Given the description of an element on the screen output the (x, y) to click on. 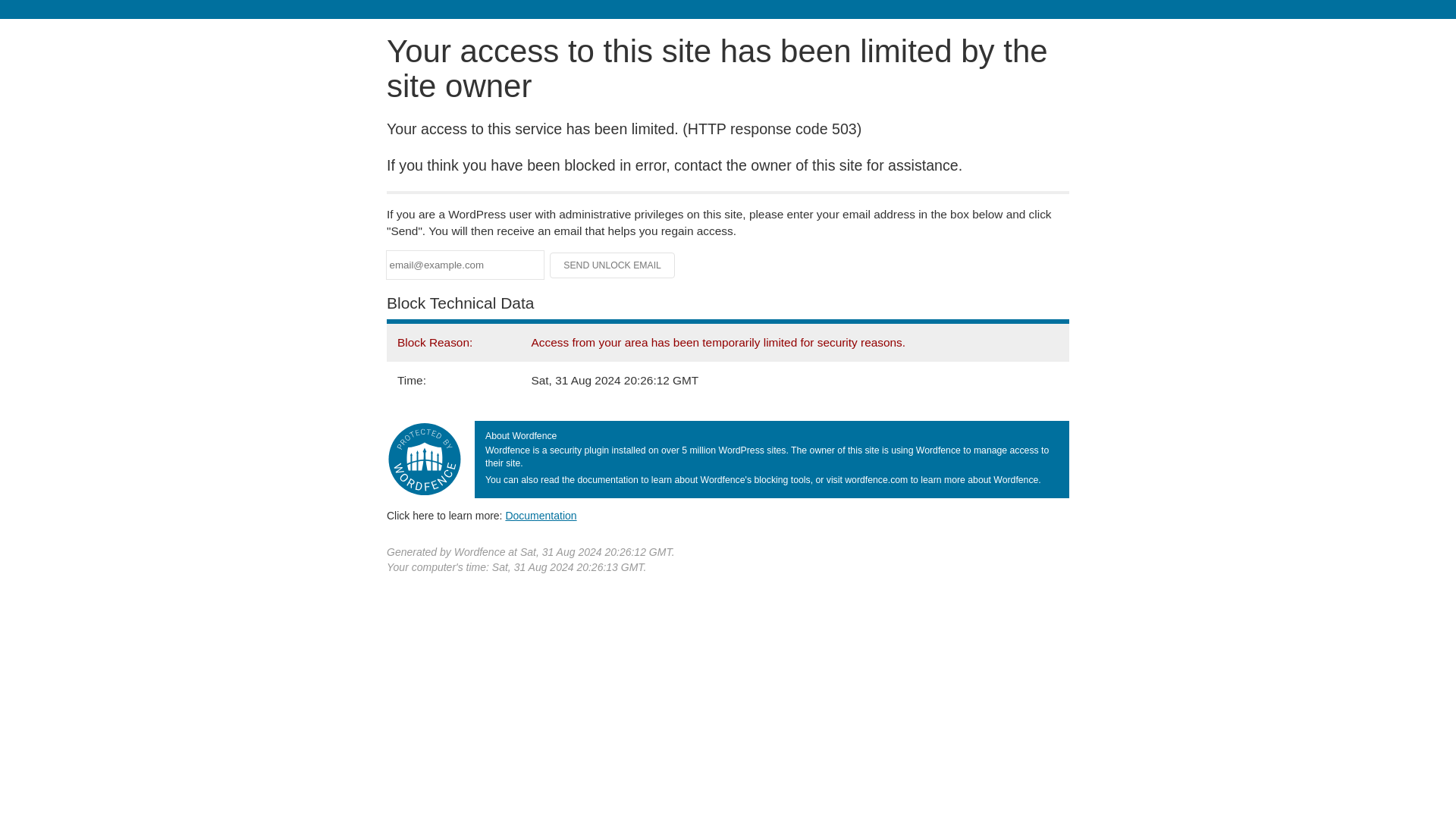
Send Unlock Email (612, 265)
Send Unlock Email (612, 265)
Documentation (540, 515)
